Given the description of an element on the screen output the (x, y) to click on. 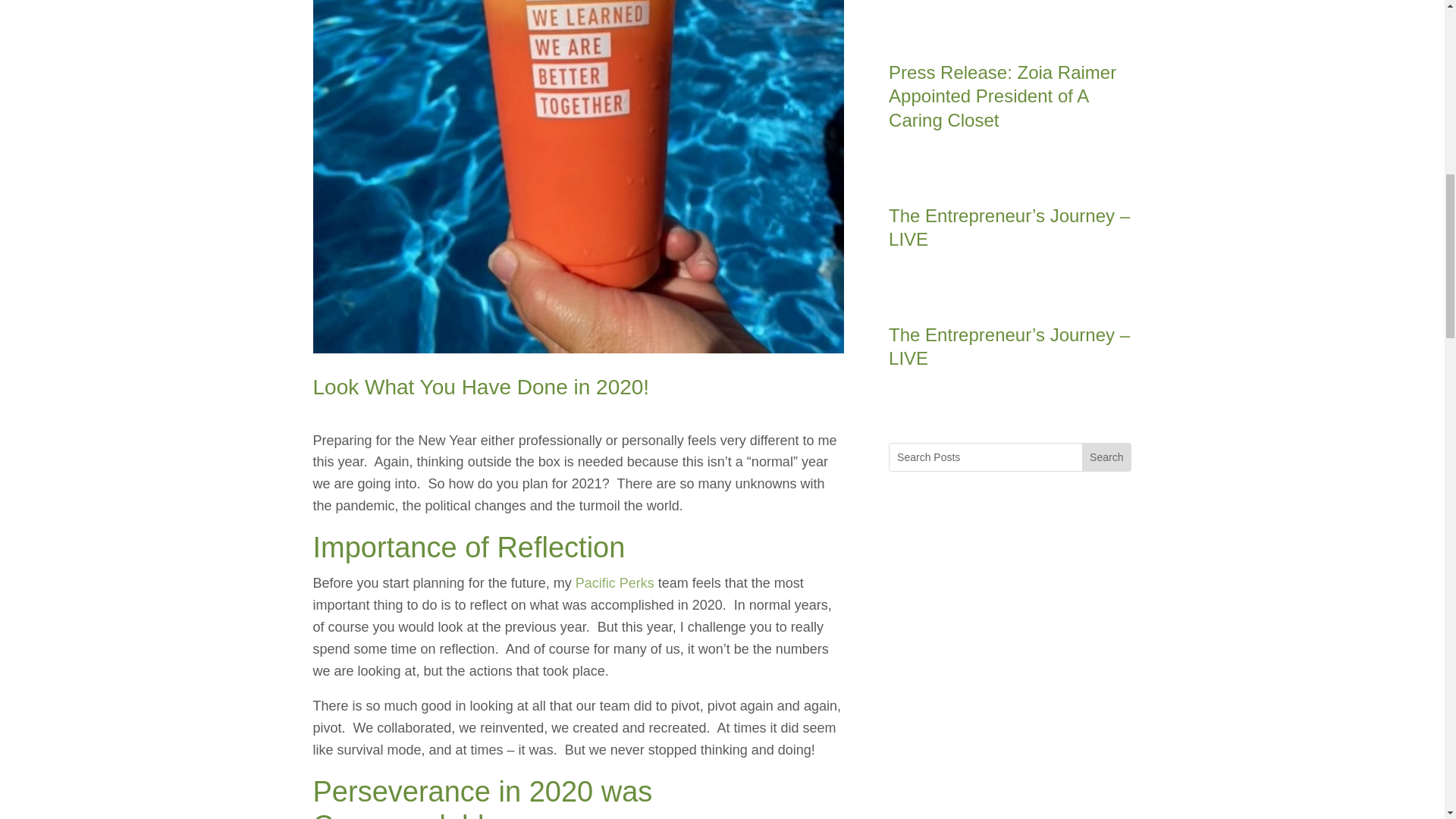
Search (1106, 456)
Search (1106, 456)
Pacific Perks (612, 582)
